Given the description of an element on the screen output the (x, y) to click on. 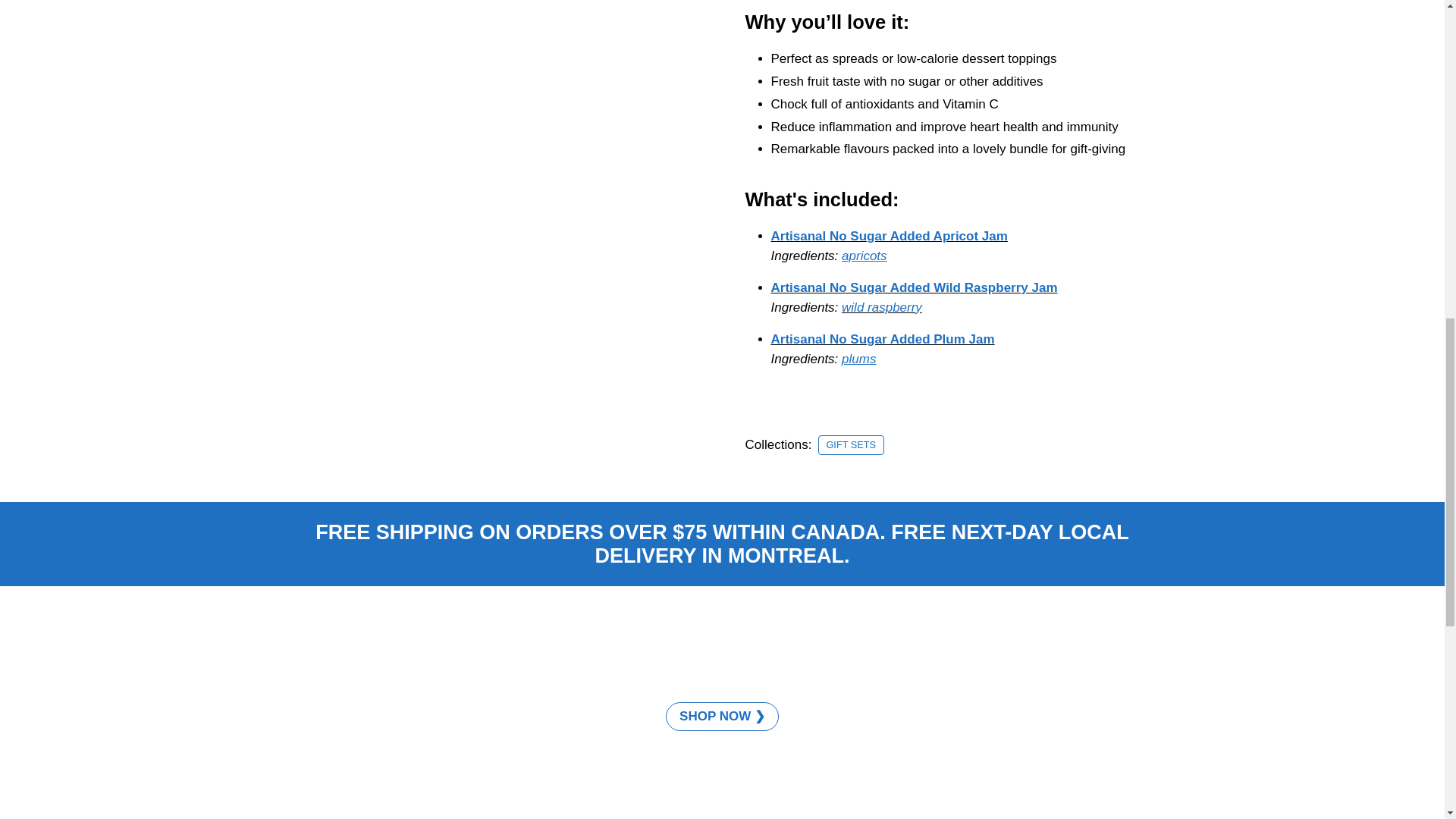
Healthy unsweetened apricot fruit jam (888, 236)
GIFT SETS (850, 444)
Healthy unsweetened plum fruit jam (882, 339)
Healthy unsweetened wild raspberry fruit jam (913, 287)
